Given the description of an element on the screen output the (x, y) to click on. 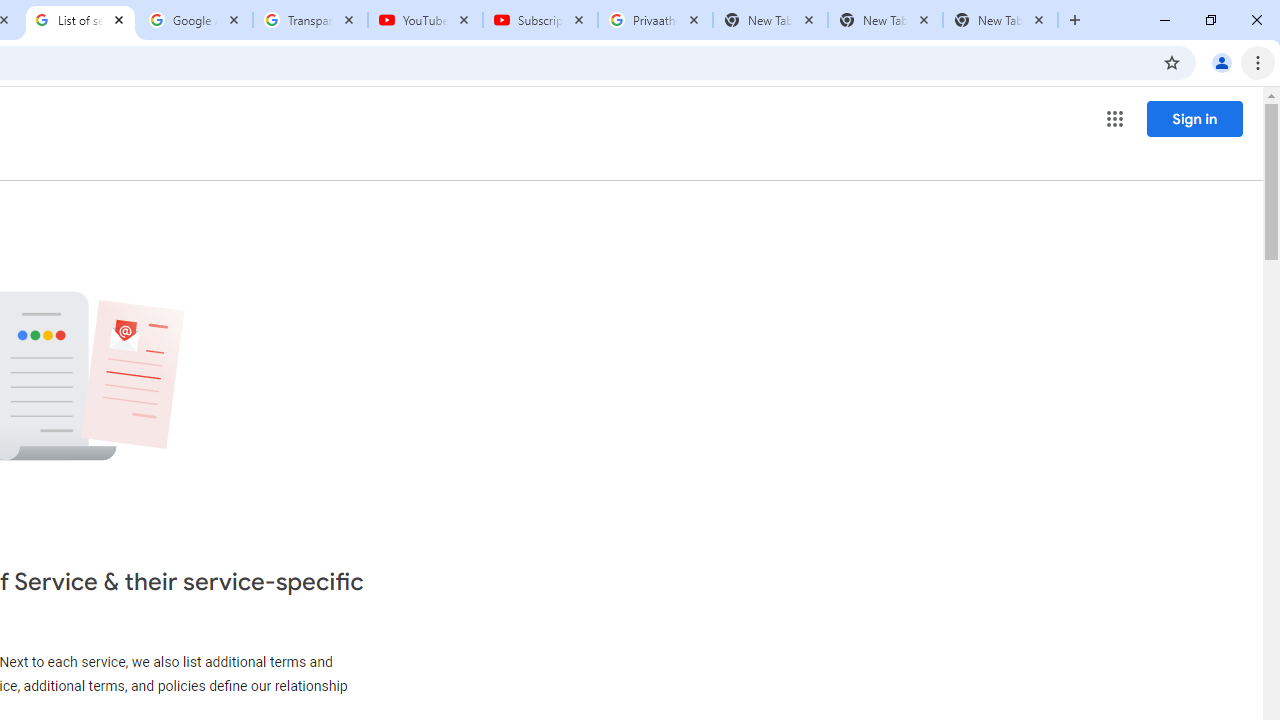
New Tab (1000, 20)
